Given the description of an element on the screen output the (x, y) to click on. 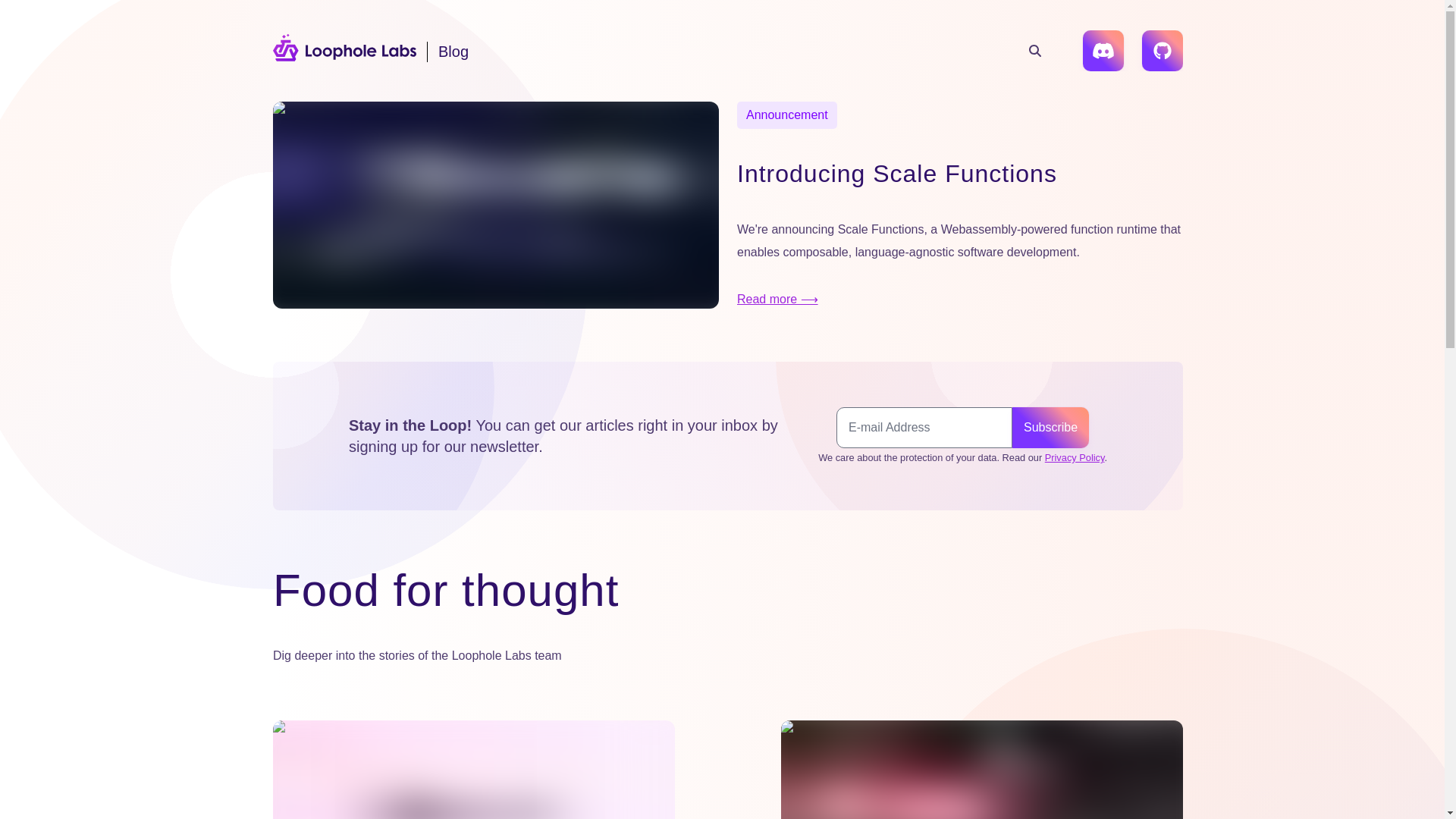
Privacy Policy (1075, 457)
Introducing Scale Functions: Header Image (496, 204)
Announcing fRPC: Header Image (474, 769)
Blog (386, 50)
Hiring at Loophole Header Image (981, 769)
Blog (386, 50)
Subscribe (1050, 427)
